Given the description of an element on the screen output the (x, y) to click on. 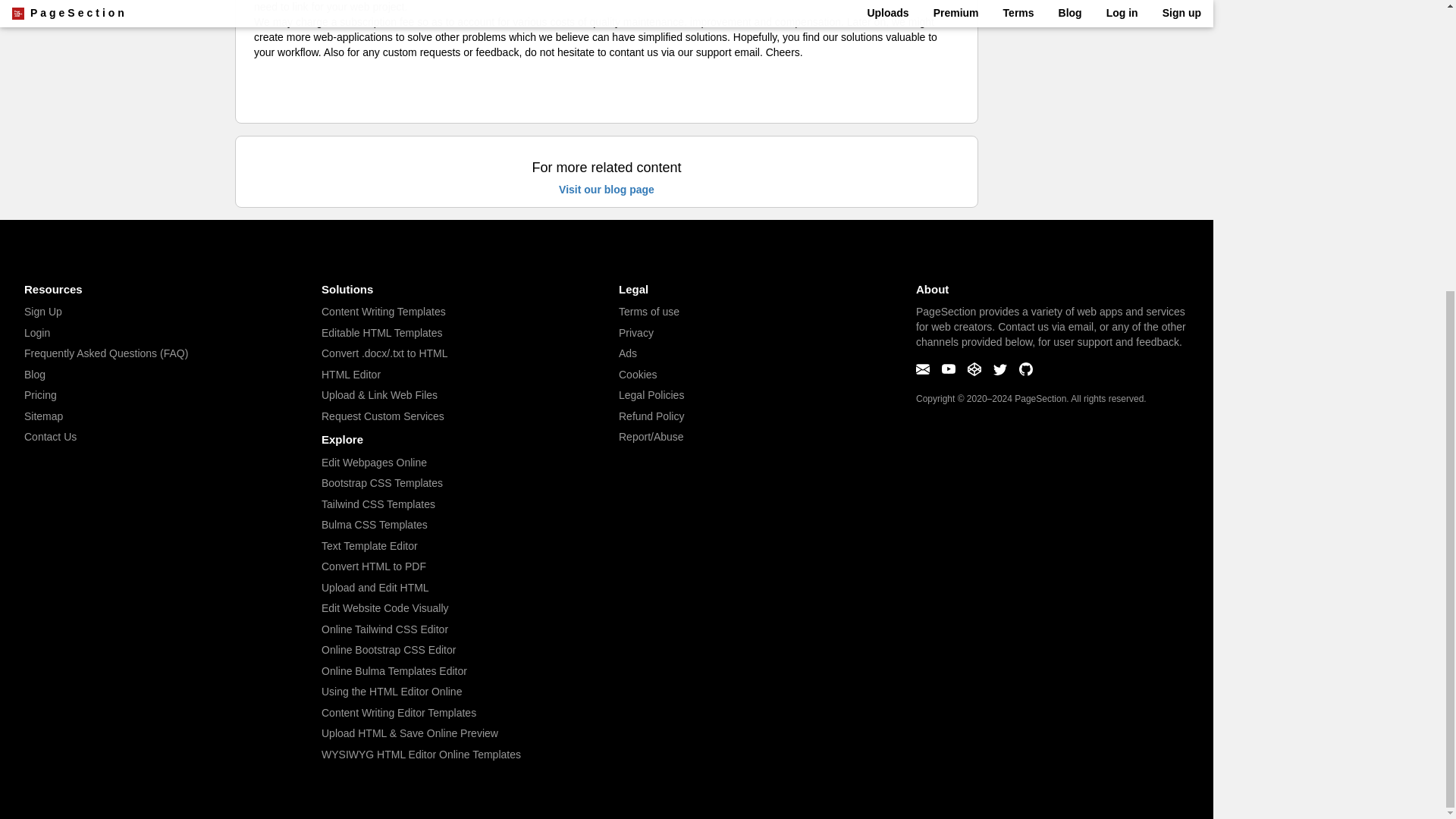
Visit our blog page (606, 189)
Contact Us (50, 436)
GitHub (1025, 372)
Text Template Editor (369, 545)
HTML Editor (350, 374)
Upload and Edit HTML (375, 587)
CodePen (976, 372)
Sitemap (43, 415)
YouTube (950, 372)
Request Custom Services (382, 415)
